Given the description of an element on the screen output the (x, y) to click on. 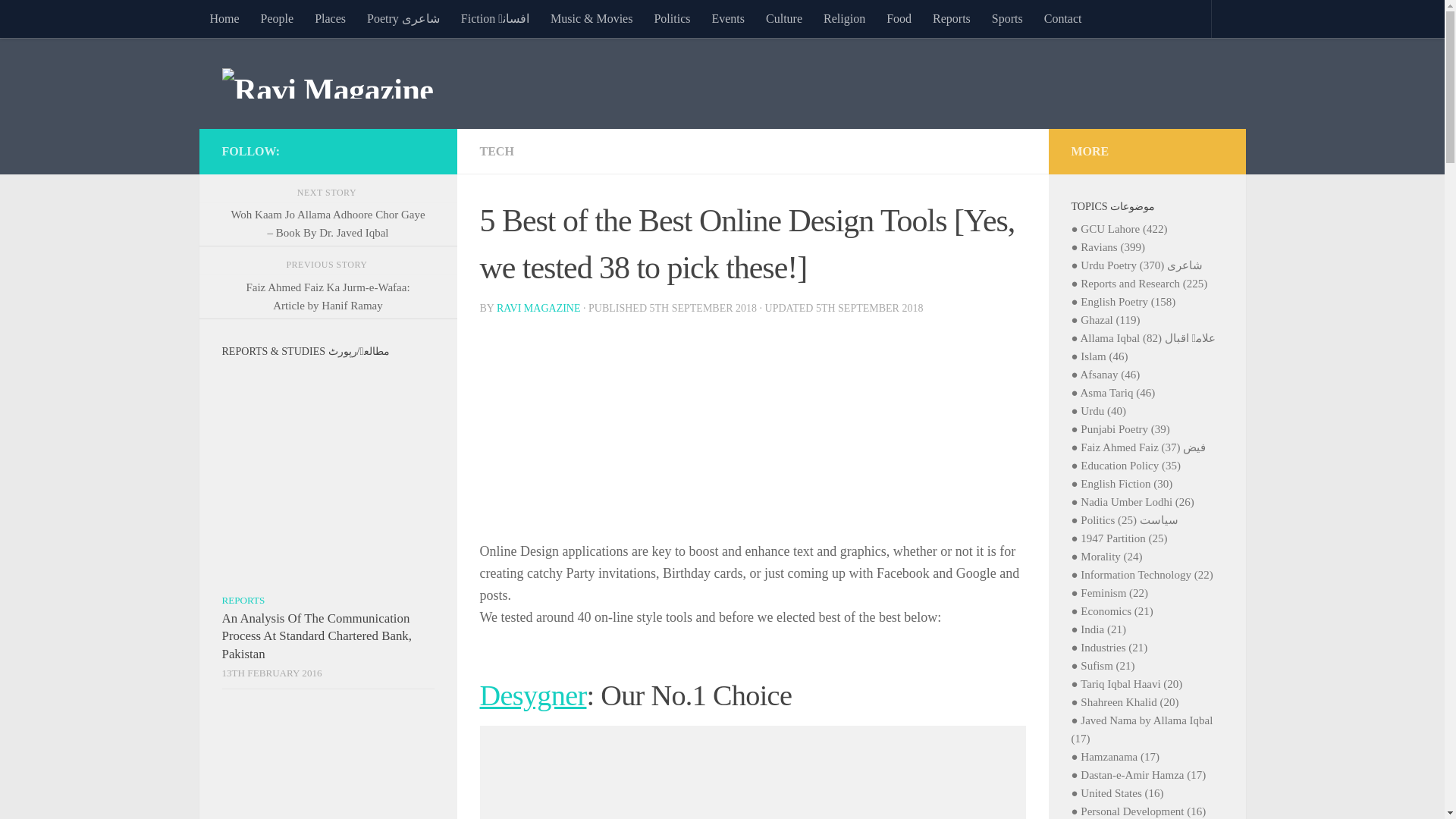
Culture (783, 18)
Religion (844, 18)
Posts by Ravi Magazine (538, 307)
Desygner (532, 695)
Food (898, 18)
Contact (1063, 18)
RAVI MAGAZINE (538, 307)
Sports (1007, 18)
TECH (496, 151)
Skip to content (59, 20)
